Given the description of an element on the screen output the (x, y) to click on. 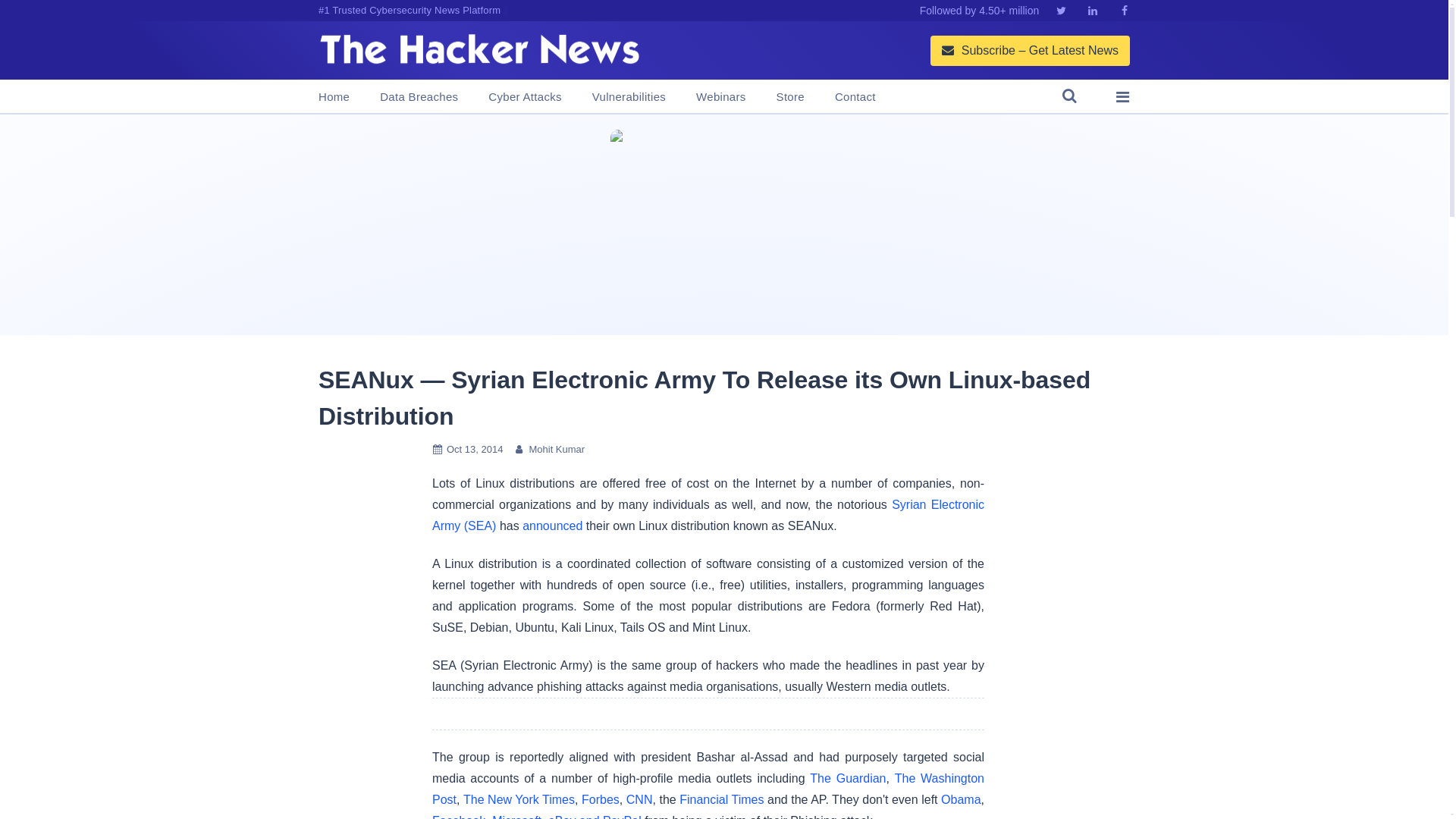
The Guardian (847, 778)
Cyber Attacks (523, 96)
announced (552, 525)
Home (333, 96)
Data Breaches (419, 96)
Webinars (720, 96)
Contact (855, 96)
Vulnerabilities (628, 96)
